Given the description of an element on the screen output the (x, y) to click on. 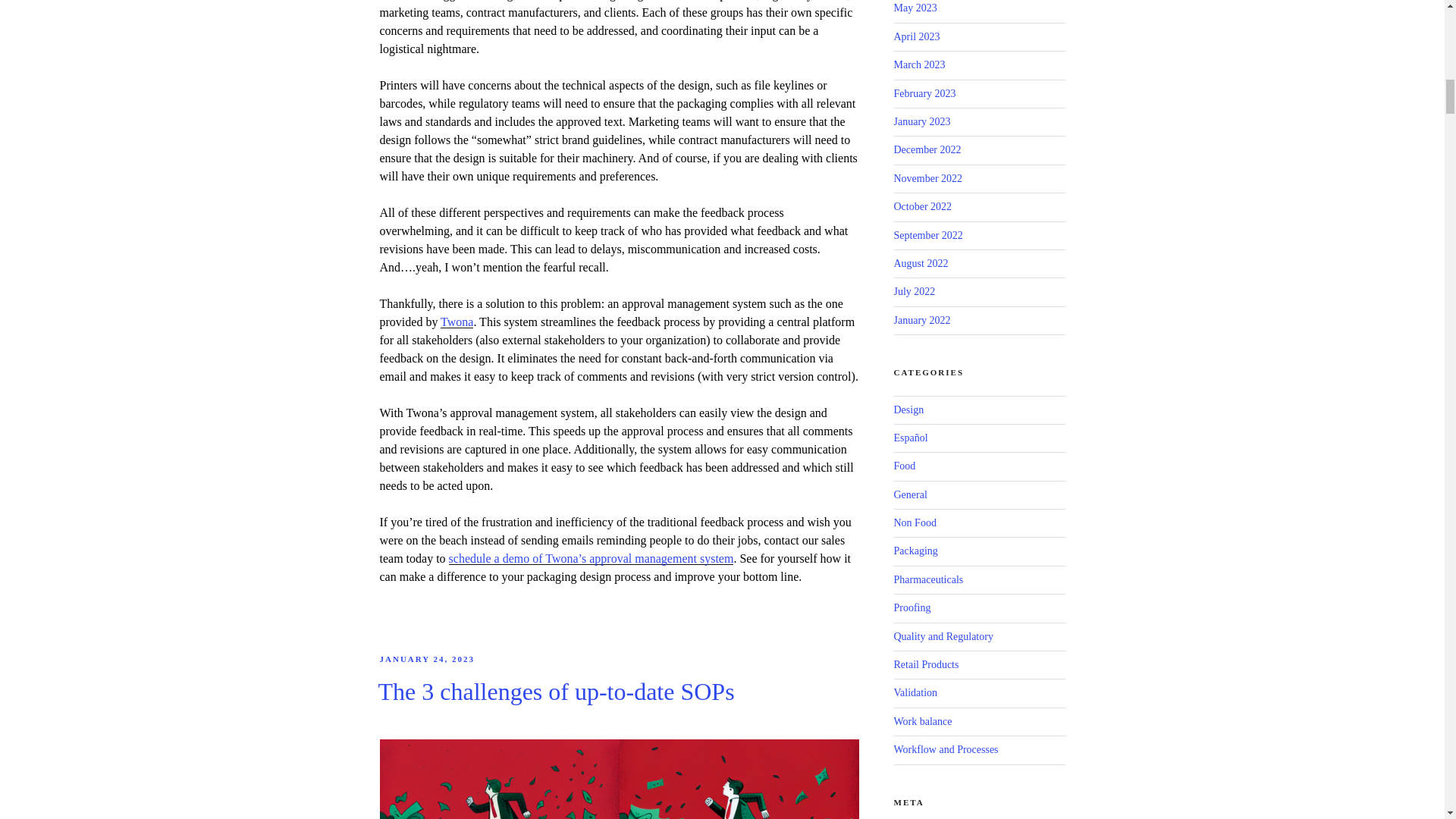
JANUARY 24, 2023 (426, 658)
Twona (457, 321)
The 3 challenges of up-to-date SOPs (555, 691)
